Given the description of an element on the screen output the (x, y) to click on. 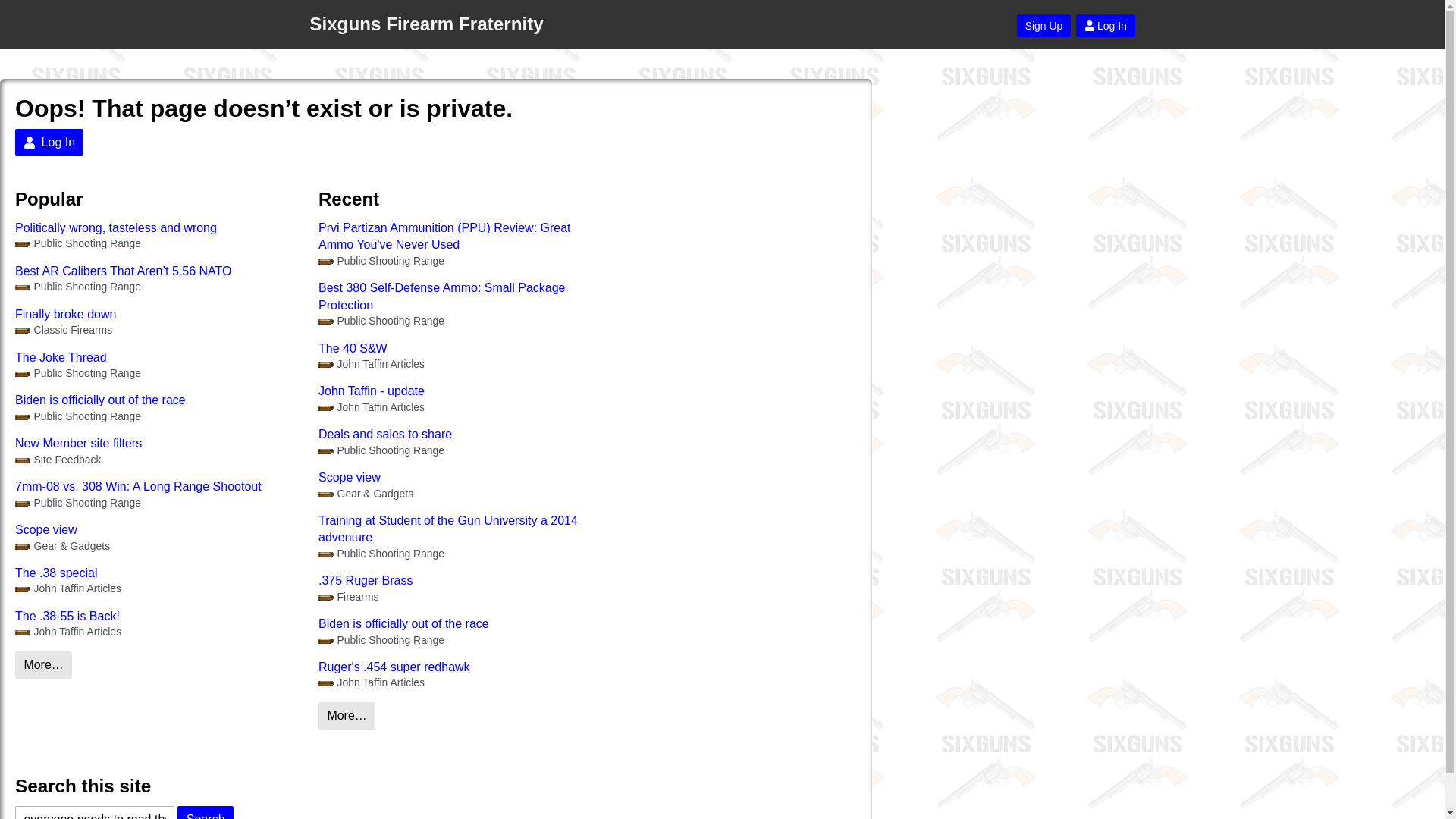
John Taffin Articles (67, 588)
Log In (48, 142)
General Discussion Area (381, 320)
General Discussion Area (381, 260)
Articles from Sixguns Legacy site (67, 588)
Log In (1105, 25)
7mm-08 vs. 308 Win: A Long Range Shootout (158, 486)
John Taffin - update (462, 391)
General Discussion Area (77, 416)
The .38 special (158, 573)
Scope view (462, 477)
The guns that made the legends (63, 329)
Public Shooting Range (77, 503)
General Discussion Area (77, 503)
Finally broke down (158, 314)
